Given the description of an element on the screen output the (x, y) to click on. 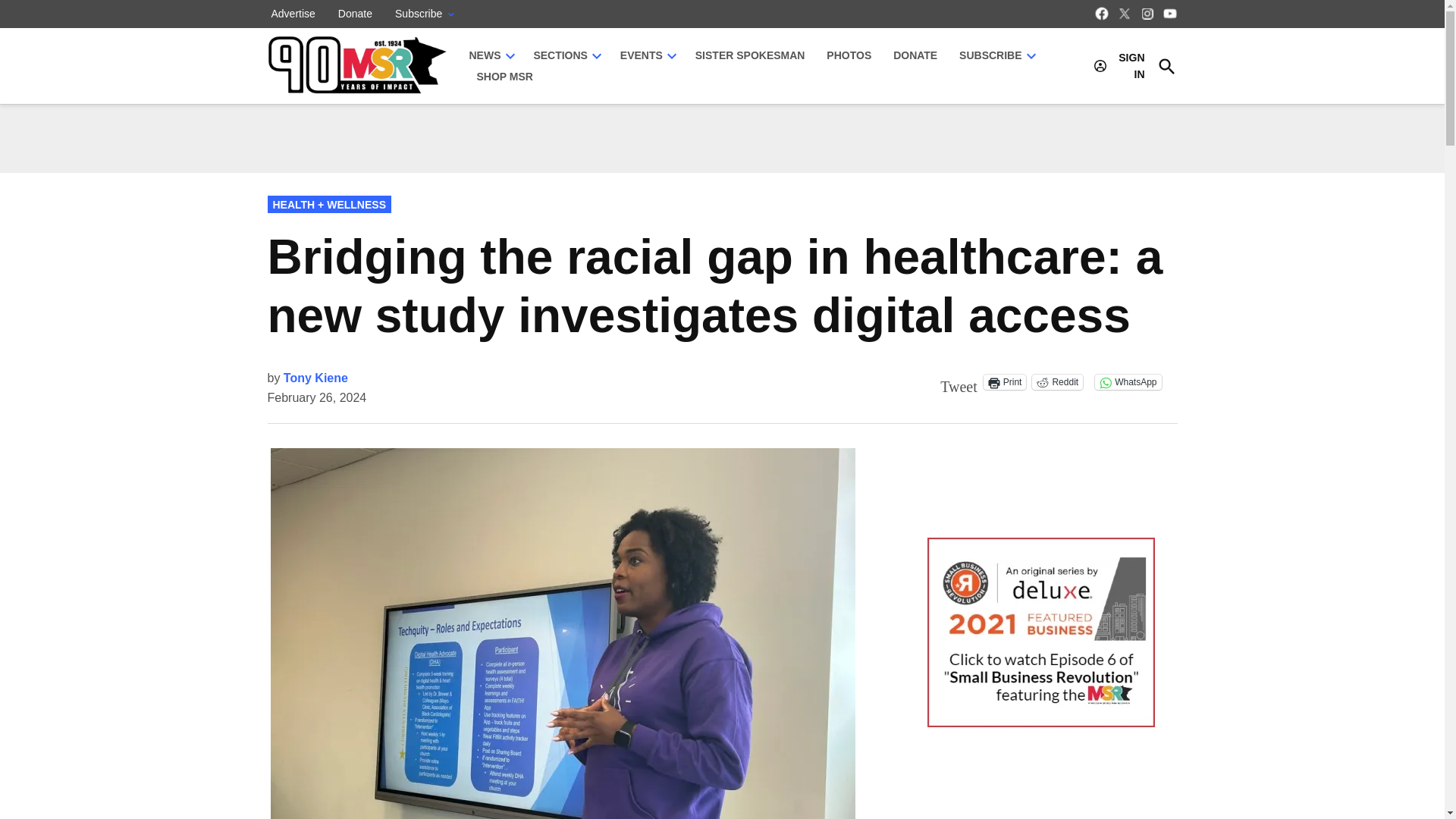
Click to share on Reddit (1057, 381)
Click to share on WhatsApp (1127, 381)
Click to print (1005, 381)
